Given the description of an element on the screen output the (x, y) to click on. 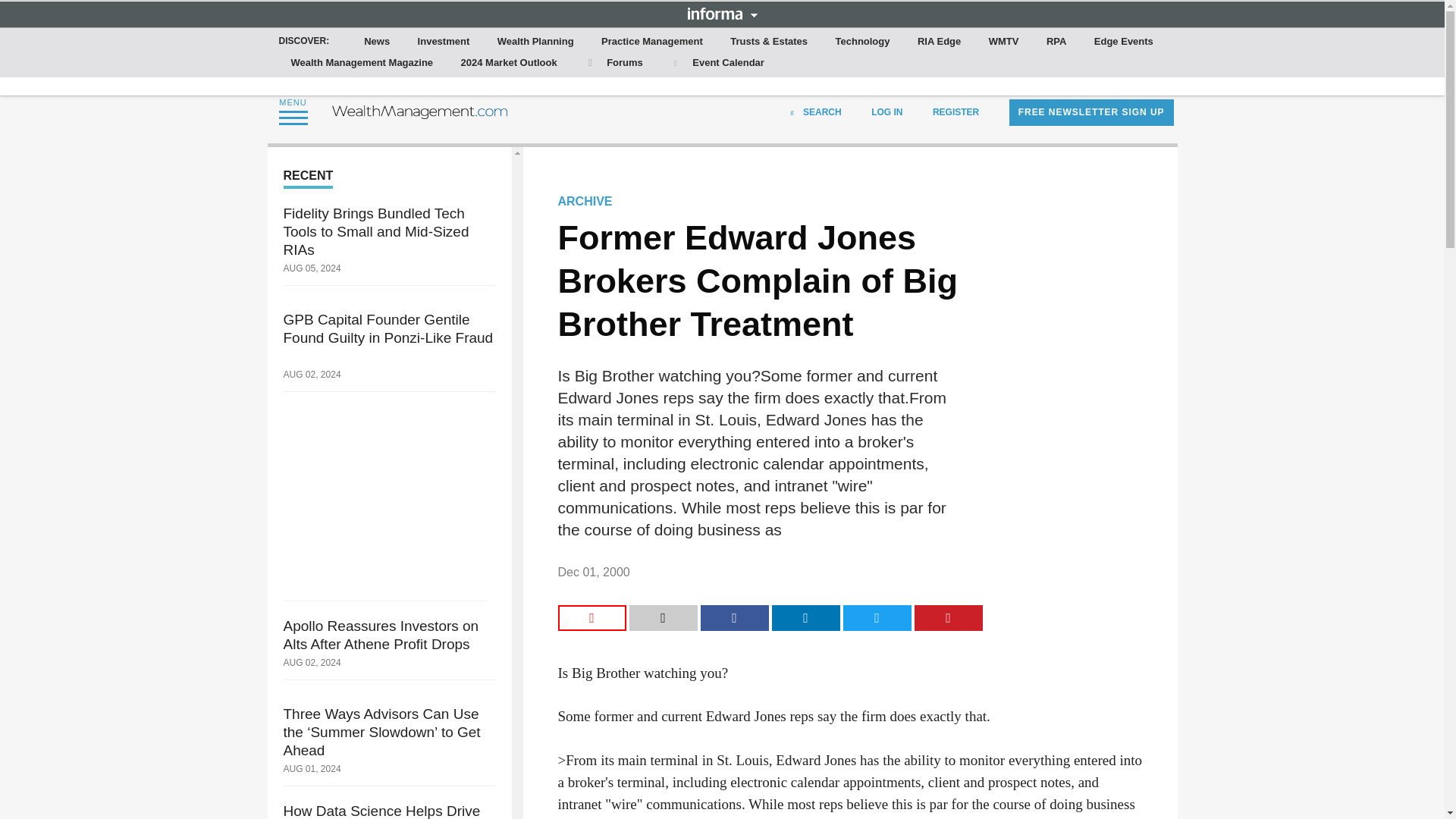
Wealth Management Magazine (362, 62)
WMTV (1003, 41)
2024 Market Outlook (508, 62)
INFORMA (722, 13)
Investment (444, 41)
RIA Edge (938, 41)
Edge Events (1122, 41)
RPA (1056, 41)
Wealth Planning (535, 41)
Forums (613, 62)
Event Calendar (716, 62)
Practice Management (652, 41)
Technology (862, 41)
News (377, 41)
